Given the description of an element on the screen output the (x, y) to click on. 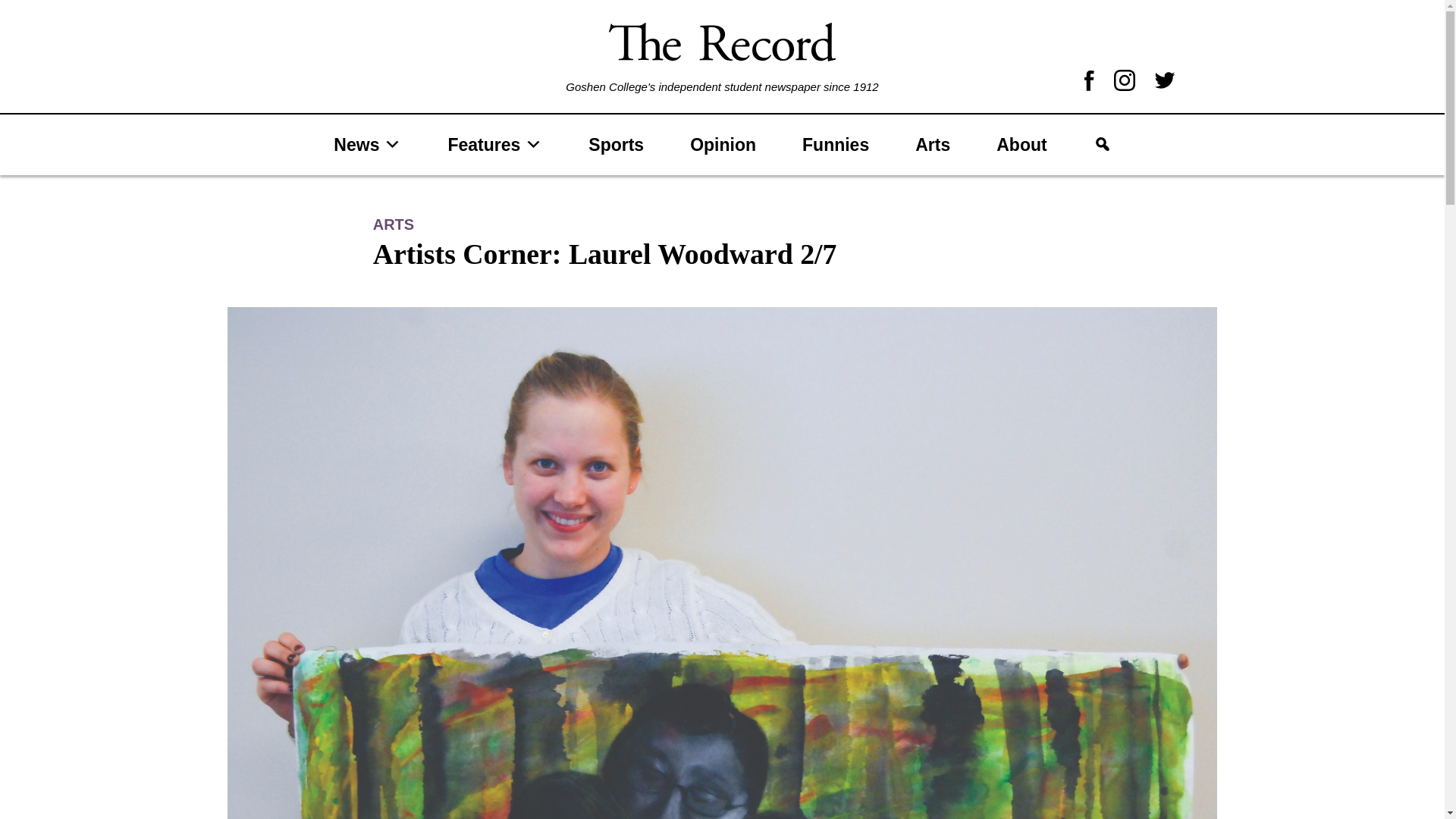
About (1021, 144)
Sports (616, 144)
Funnies (834, 144)
News (367, 144)
Features (494, 144)
Arts (932, 144)
Opinion (722, 144)
